Given the description of an element on the screen output the (x, y) to click on. 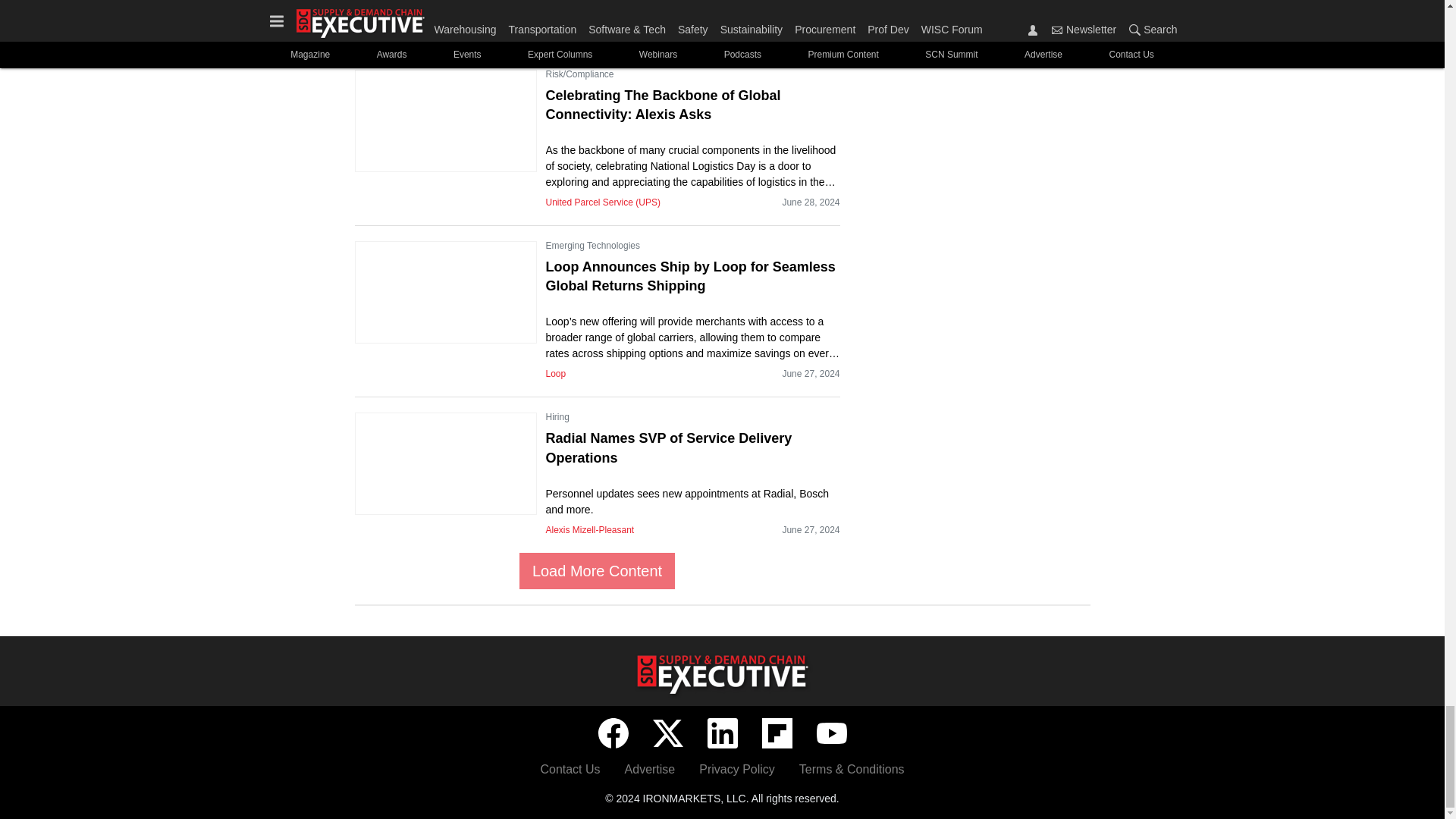
YouTube icon (830, 733)
LinkedIn icon (721, 733)
Twitter X icon (667, 733)
Facebook icon (611, 733)
Flipboard icon (776, 733)
